Given the description of an element on the screen output the (x, y) to click on. 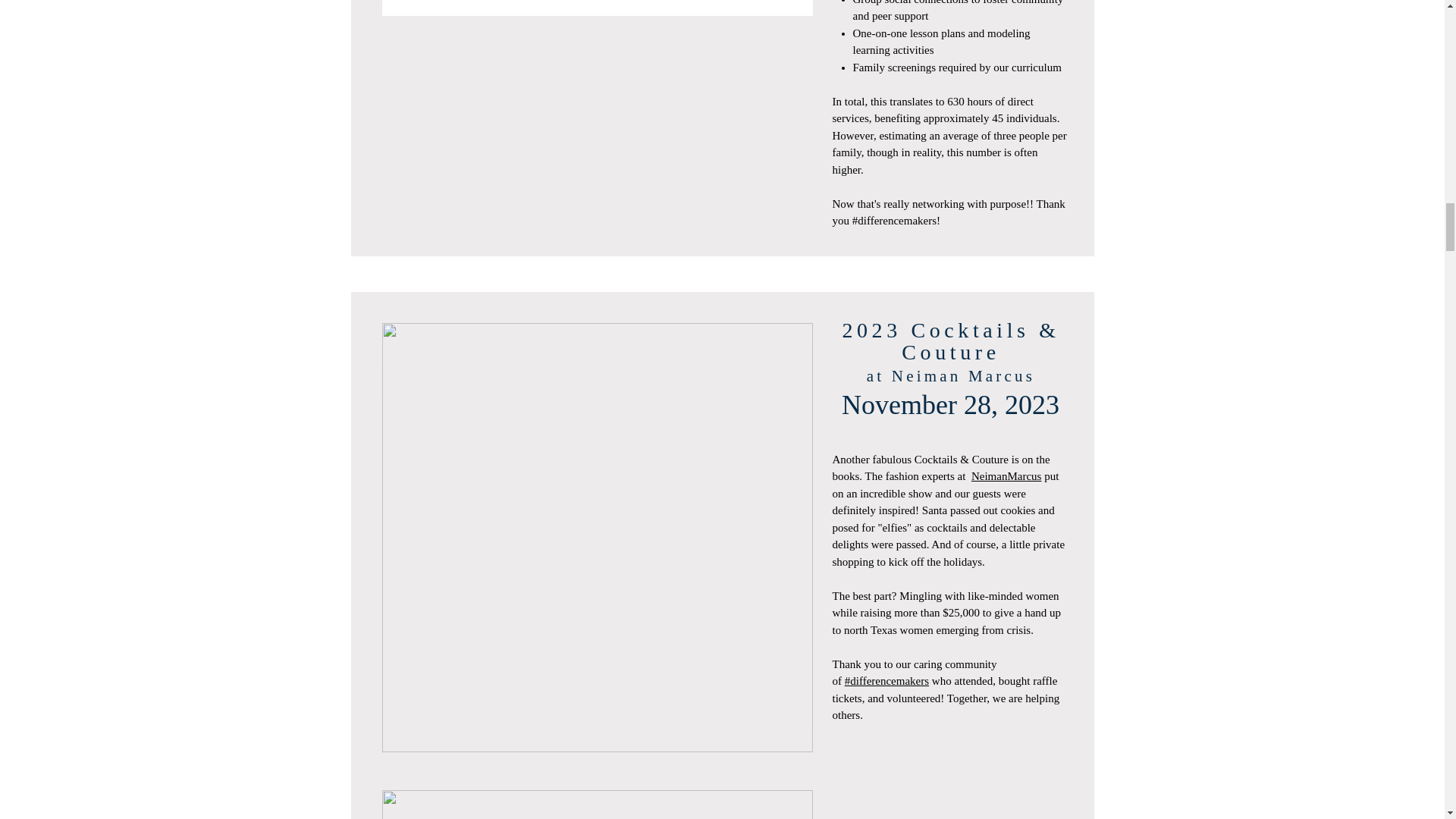
NeimanMarcus (1006, 476)
